Given the description of an element on the screen output the (x, y) to click on. 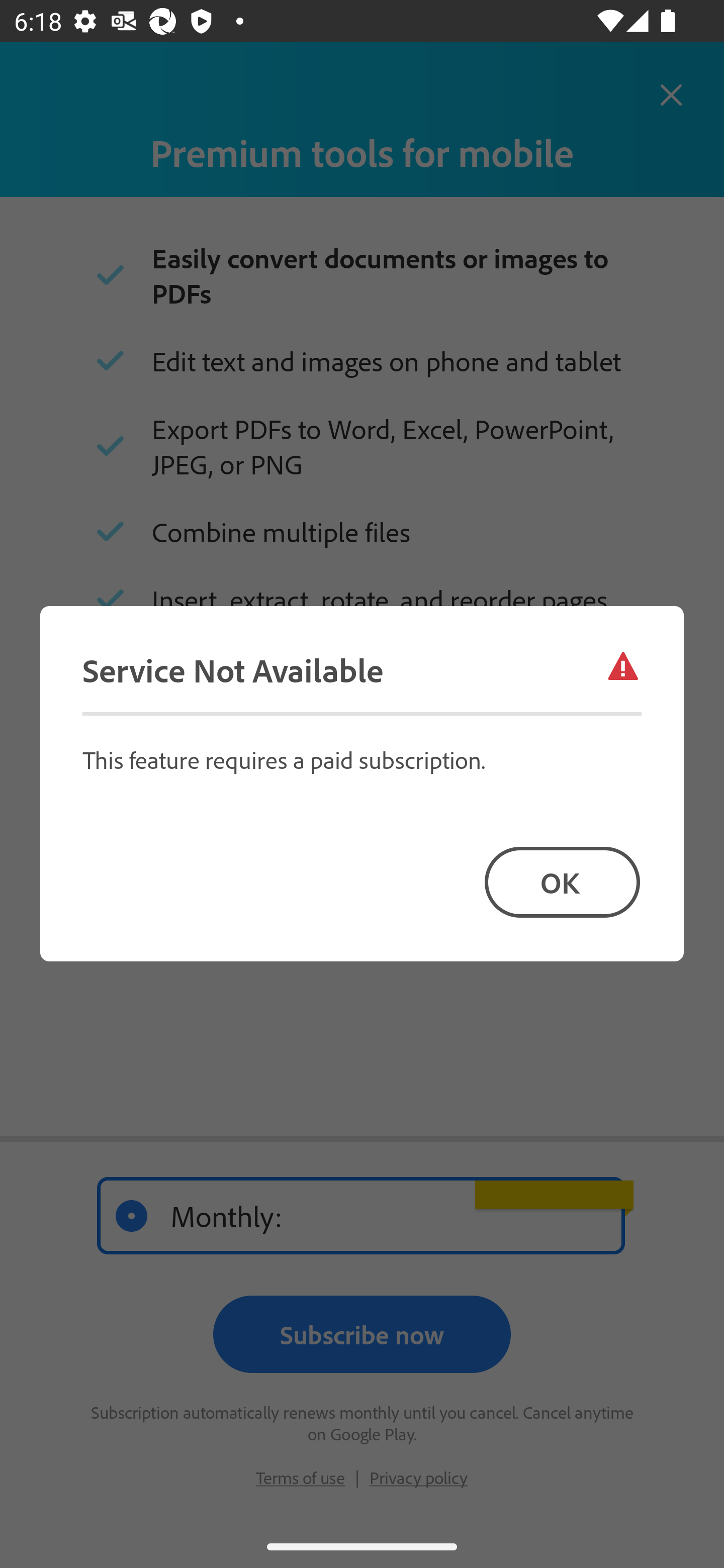
OK (561, 881)
